Given the description of an element on the screen output the (x, y) to click on. 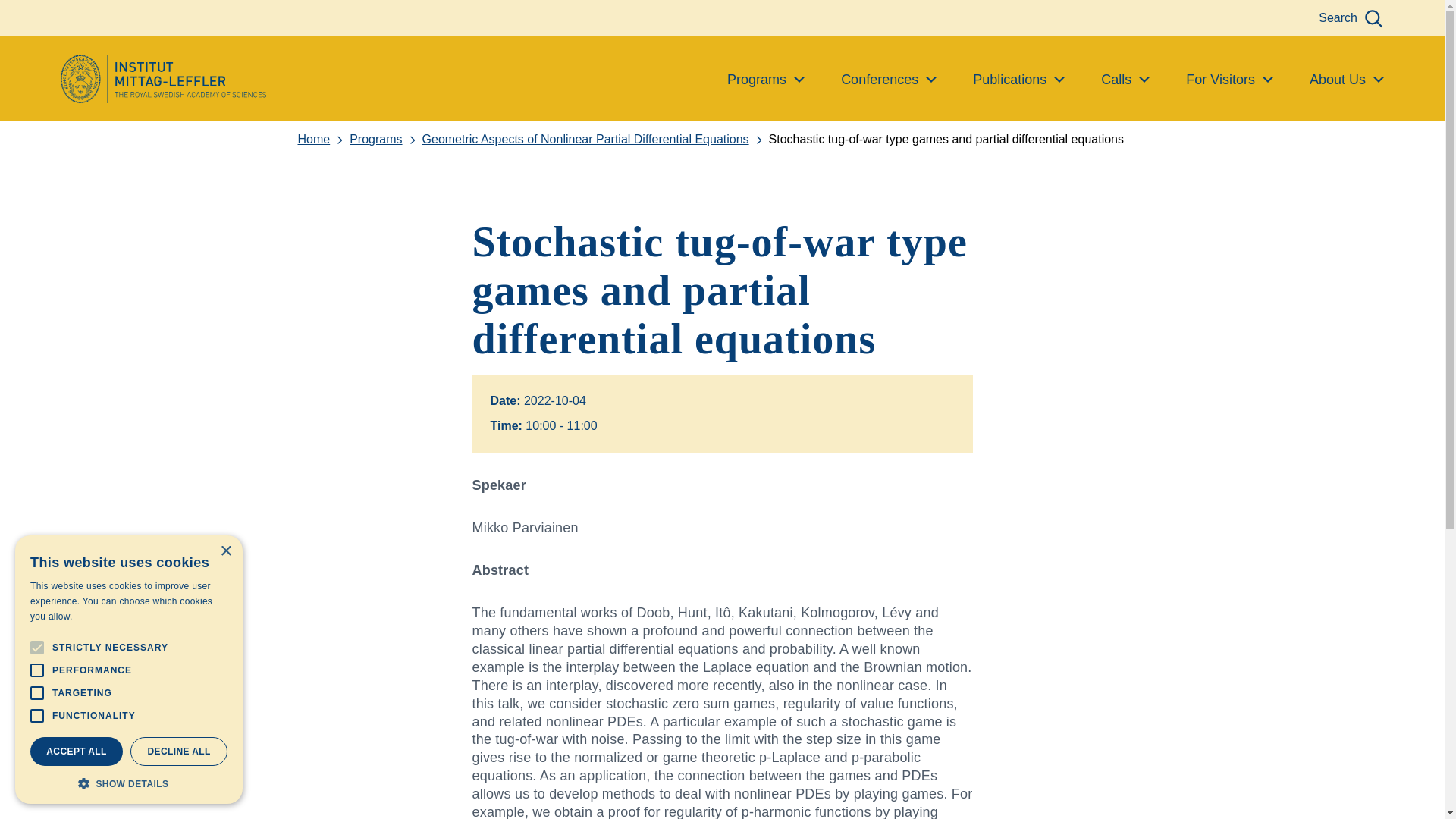
Programs (385, 139)
Calls (1125, 79)
Programs (765, 79)
Publications (1018, 79)
Home (323, 139)
About Us (1346, 79)
For Visitors (1229, 79)
Conferences (888, 79)
